Given the description of an element on the screen output the (x, y) to click on. 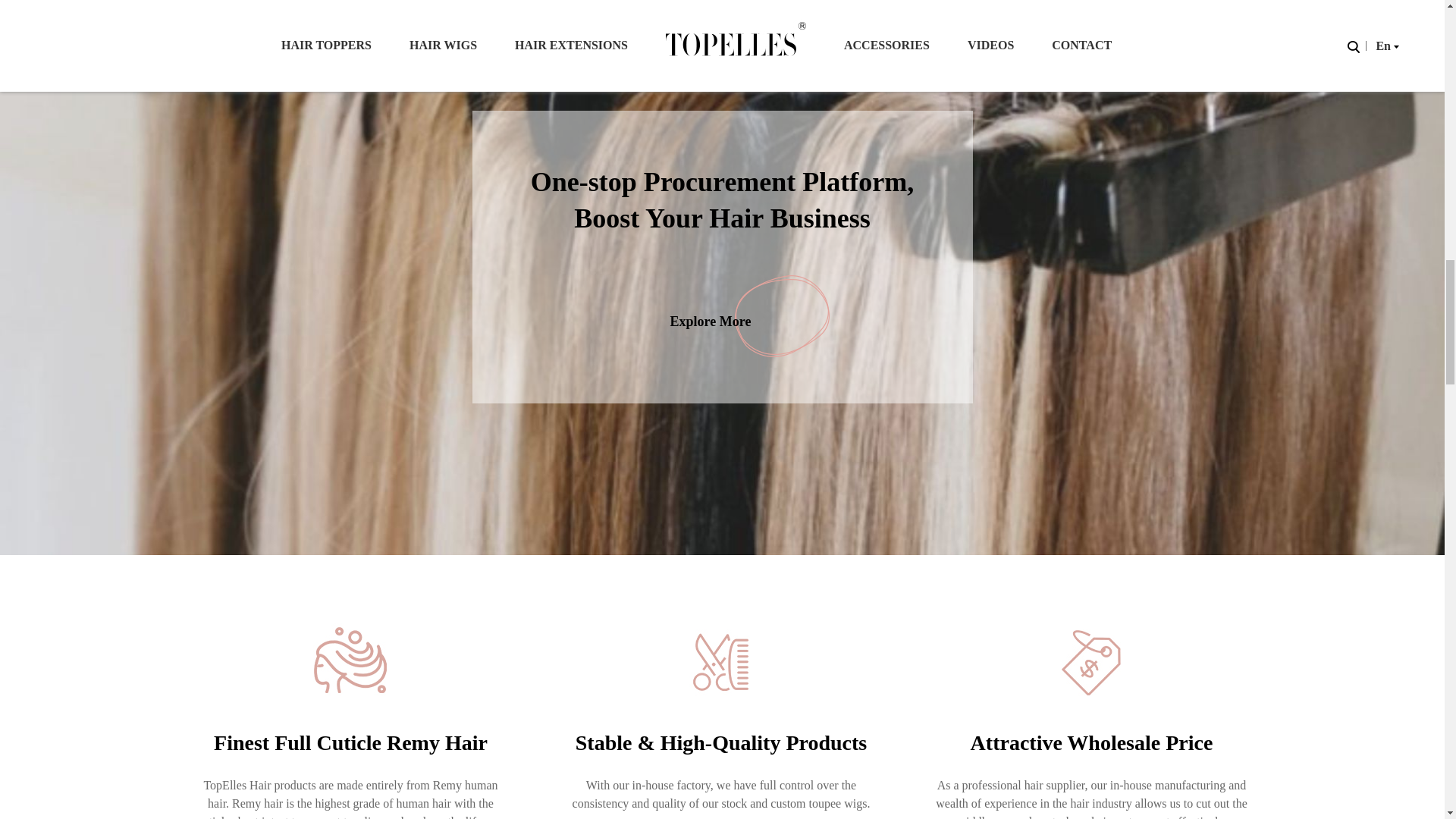
pinkIcon (782, 316)
indexIcon1 (350, 661)
indexIcon2 (720, 661)
indexIcon3 (1091, 661)
